Given the description of an element on the screen output the (x, y) to click on. 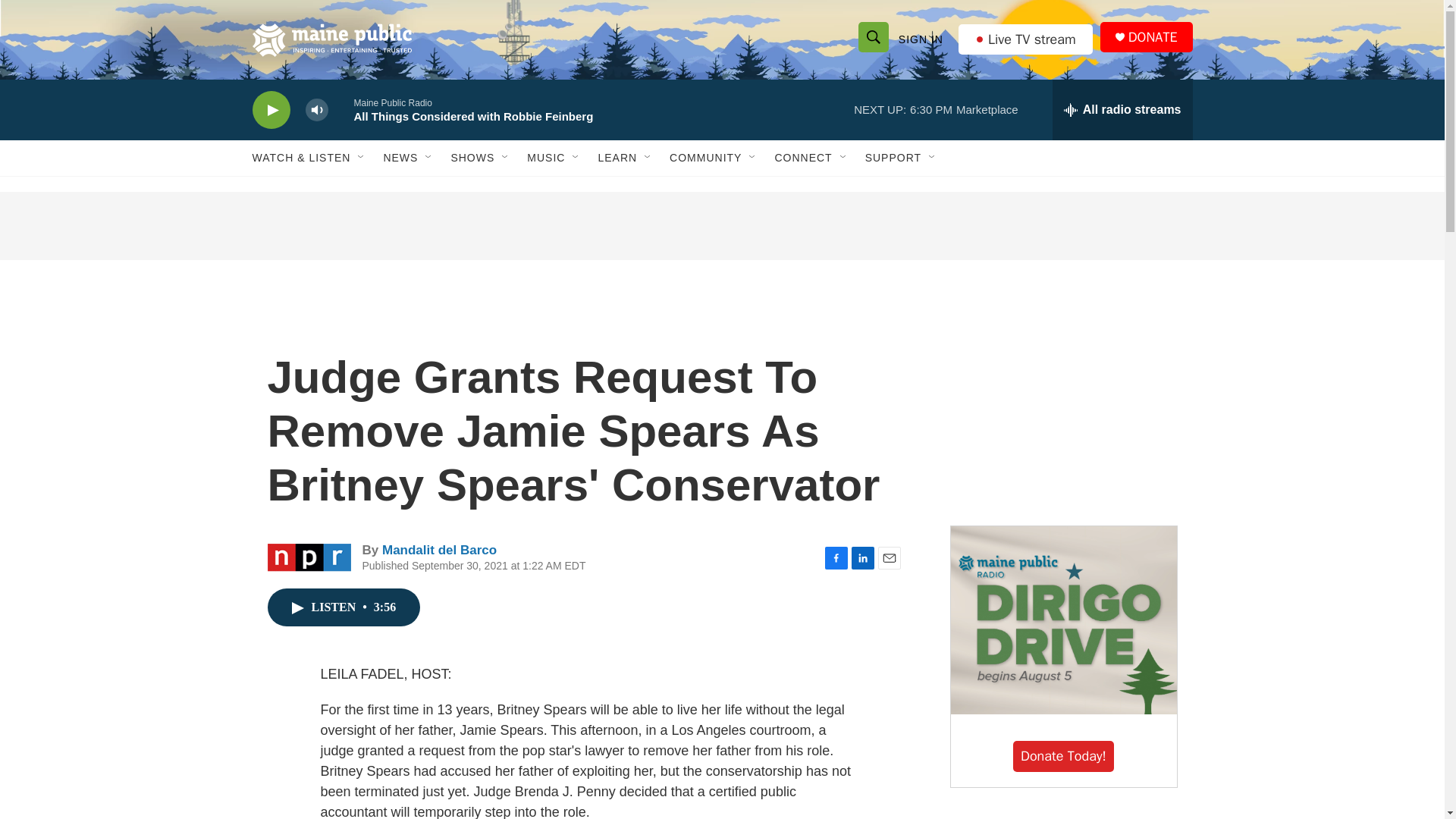
3rd party ad content (721, 225)
3rd party ad content (1062, 400)
